Given the description of an element on the screen output the (x, y) to click on. 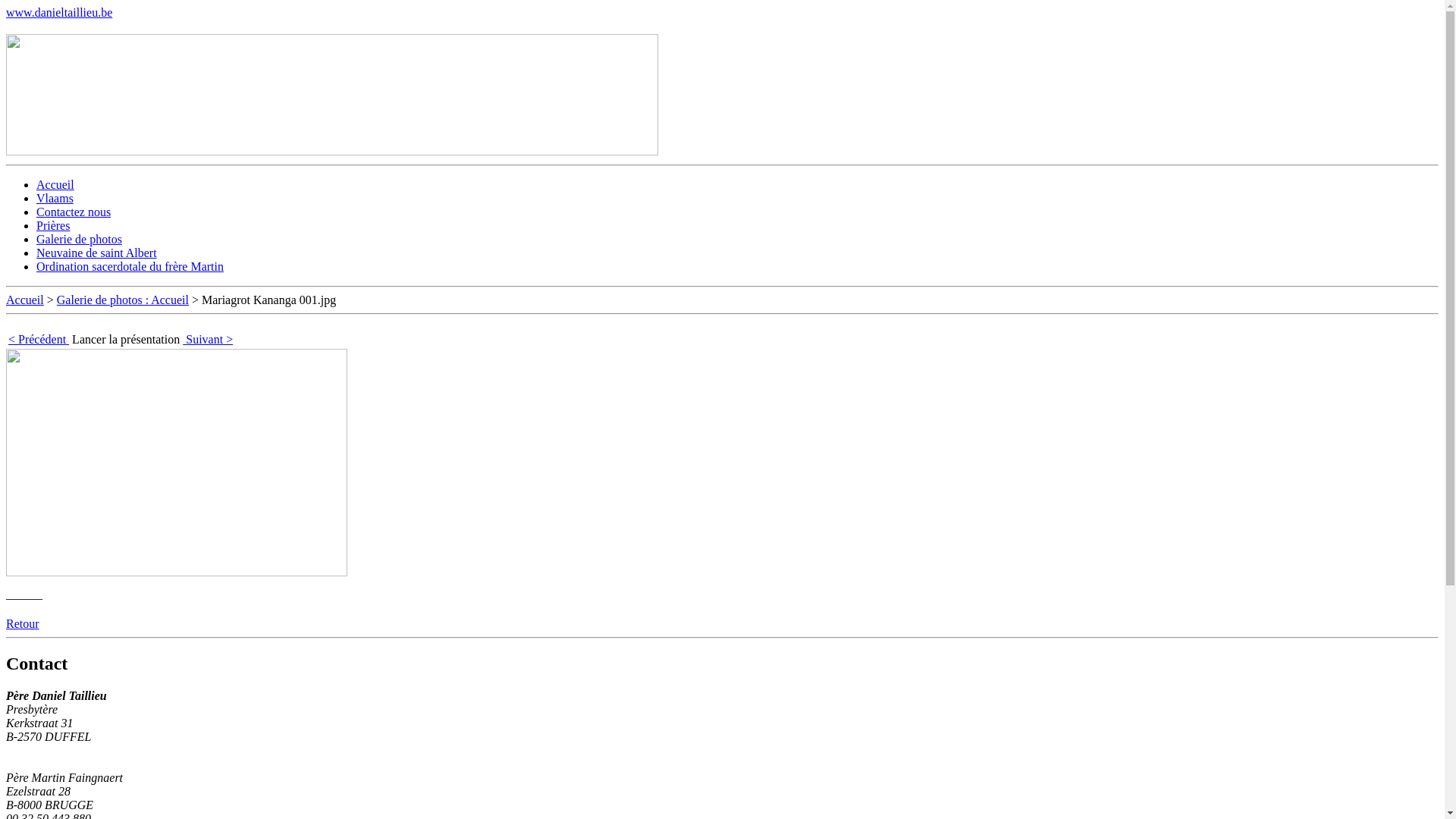
 Suivant > Element type: text (207, 338)
Contactez nous Element type: text (73, 211)
www.danieltaillieu.be Element type: text (59, 12)
Accueil Element type: text (55, 184)
Accueil Element type: text (24, 299)
Neuvaine de saint Albert Element type: text (96, 252)
Galerie de photos Element type: text (79, 238)
Galerie de photos : Accueil Element type: text (122, 299)
Vlaams Element type: text (54, 197)
Retour Element type: text (22, 623)
